Given the description of an element on the screen output the (x, y) to click on. 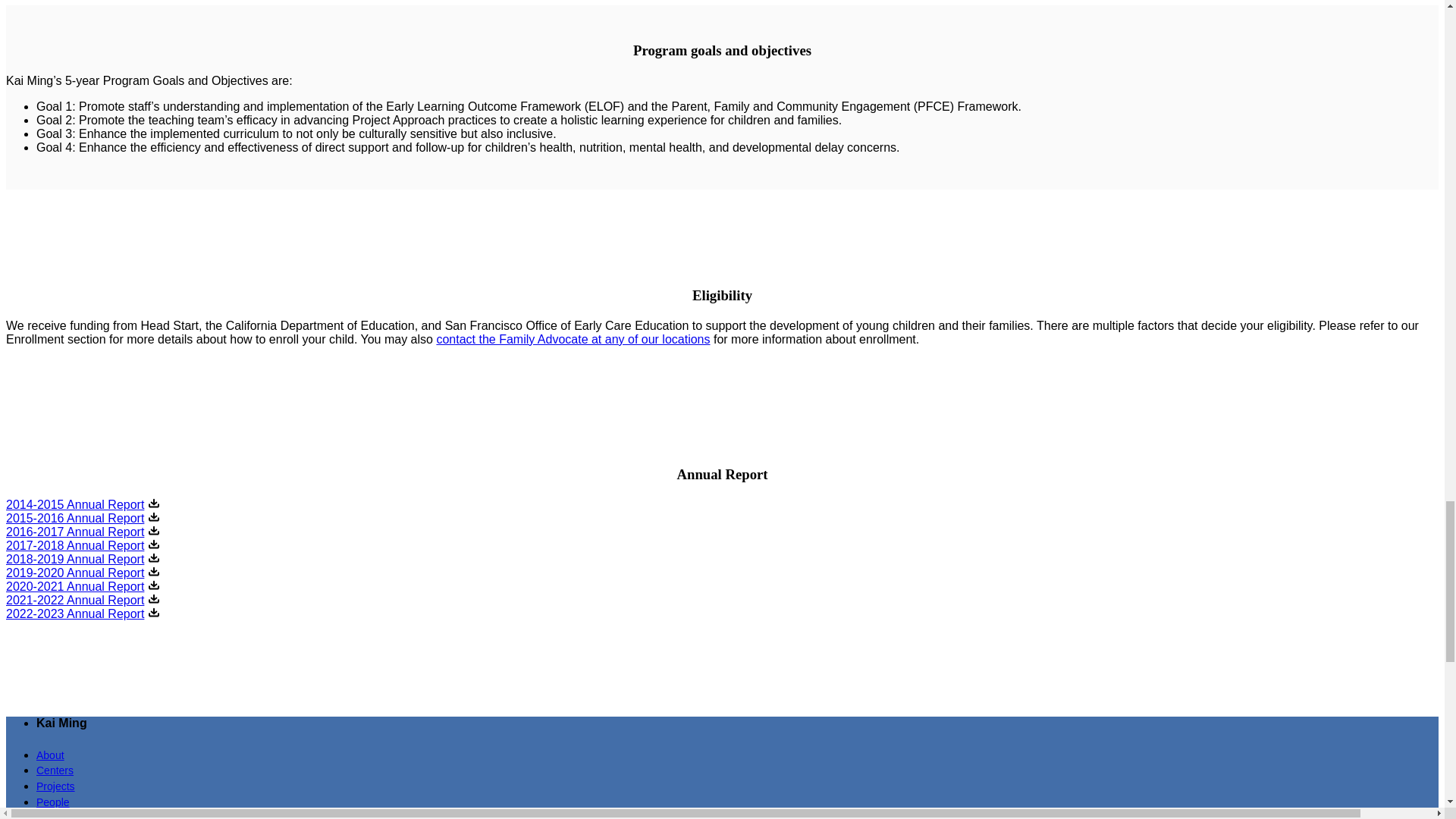
2022-2023 Annual Report (74, 613)
2014-2015 Annual Report (74, 504)
2021-2022 Annual Report (74, 599)
About (50, 755)
2019-2020 Annual Report (74, 572)
2017-2018 Annual Report (74, 545)
Centers (55, 769)
2018-2019 Annual Report (74, 558)
2016-2017 Annual Report (74, 531)
2015-2016 Annual Report (74, 517)
2020-2021 Annual Report (74, 585)
contact the Family Advocate at any of our locations (572, 338)
Projects (55, 785)
